Given the description of an element on the screen output the (x, y) to click on. 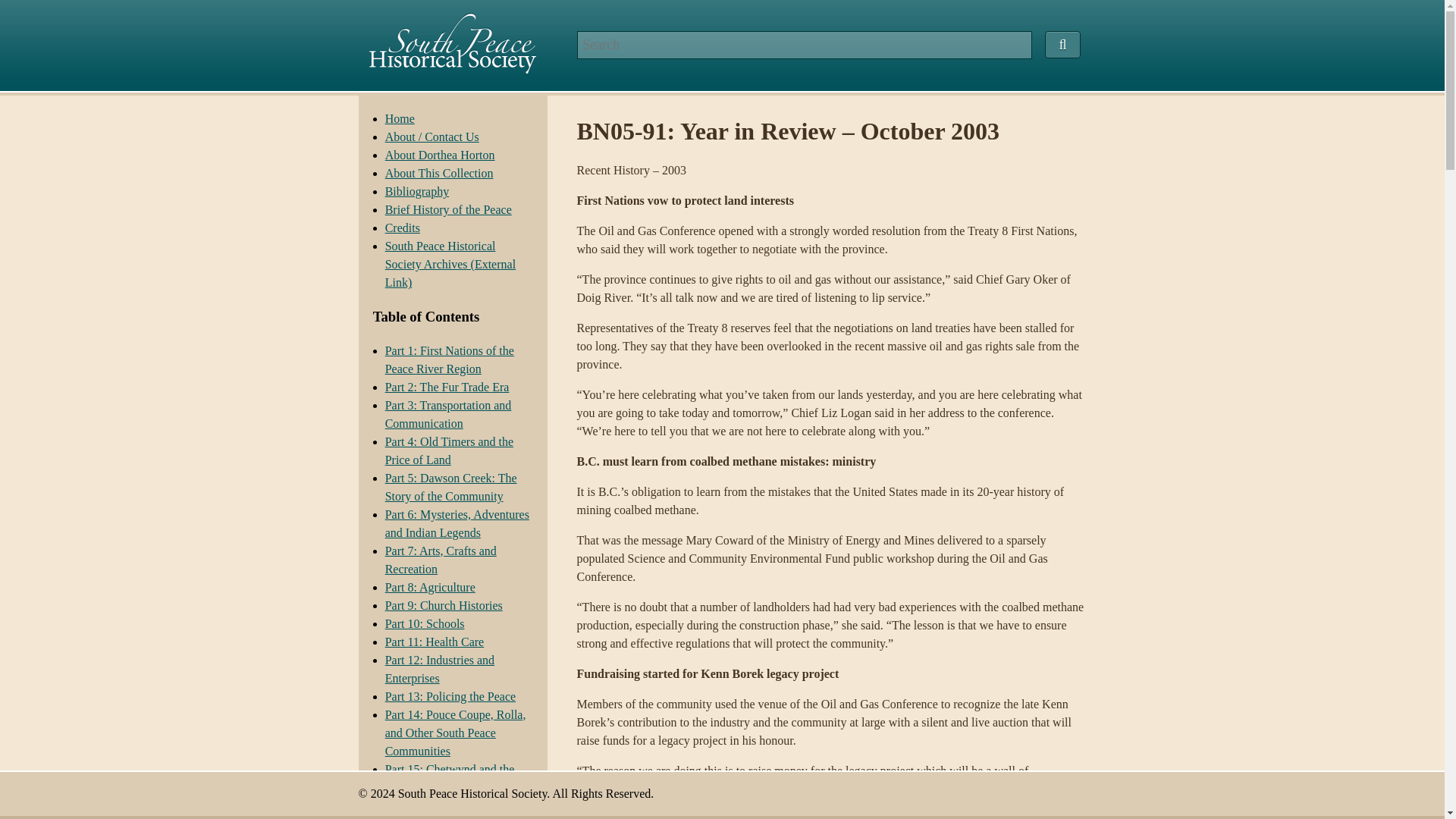
Brief History of the Peace (448, 209)
Part 3: Transportation and Communication (448, 413)
Part 13: Policing the Peace (450, 696)
Part 1: First Nations of the Peace River Region (449, 359)
About This Collection (439, 173)
Part 10: Schools (424, 623)
Credits (402, 227)
Part 2: The Fur Trade Era (447, 386)
